Given the description of an element on the screen output the (x, y) to click on. 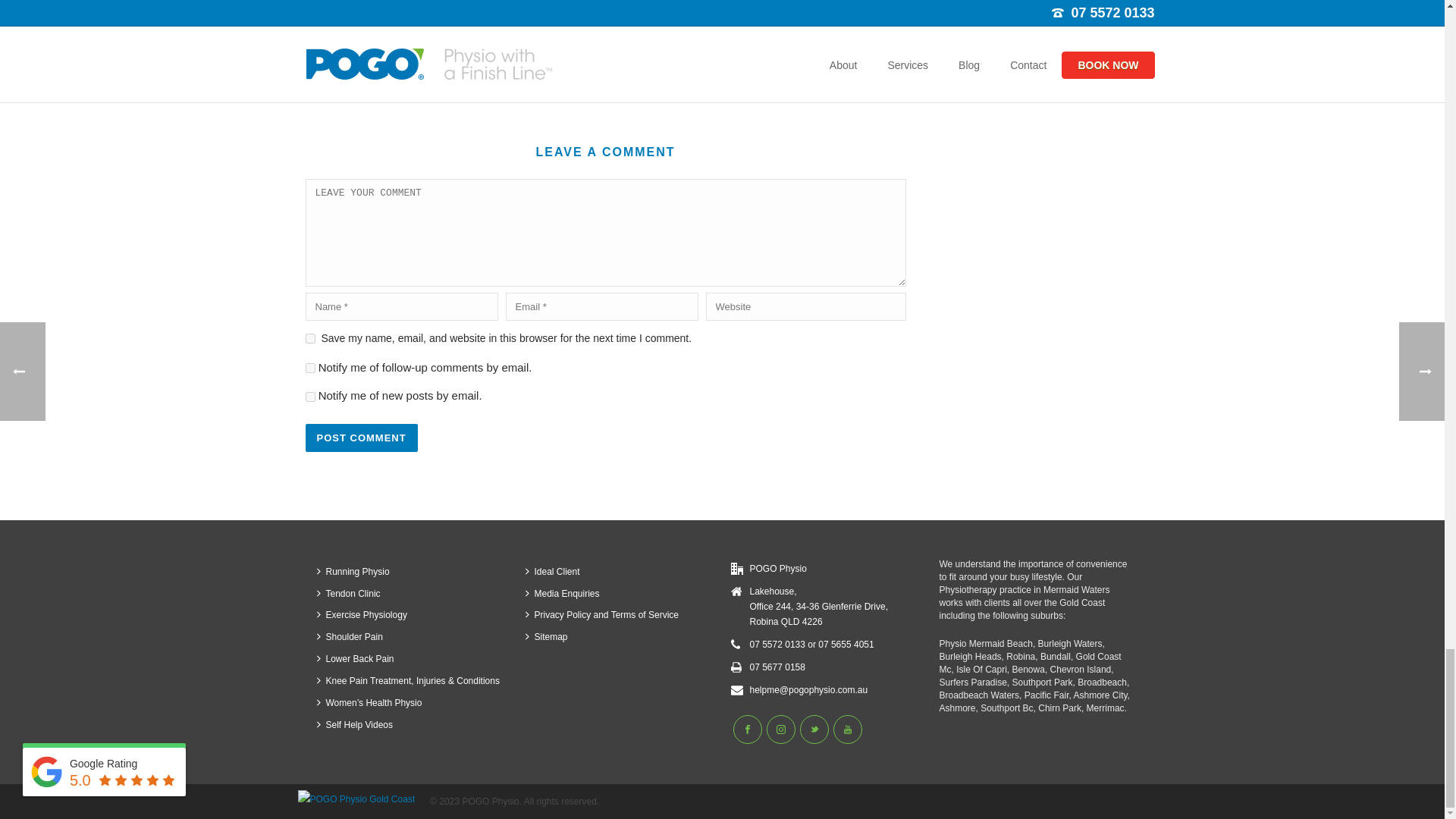
Follow Us on twitter (813, 728)
subscribe (309, 368)
POST COMMENT (360, 438)
Follow Us on instagram (779, 728)
subscribe (309, 397)
Follow Us on facebook (746, 728)
yes (309, 338)
